Given the description of an element on the screen output the (x, y) to click on. 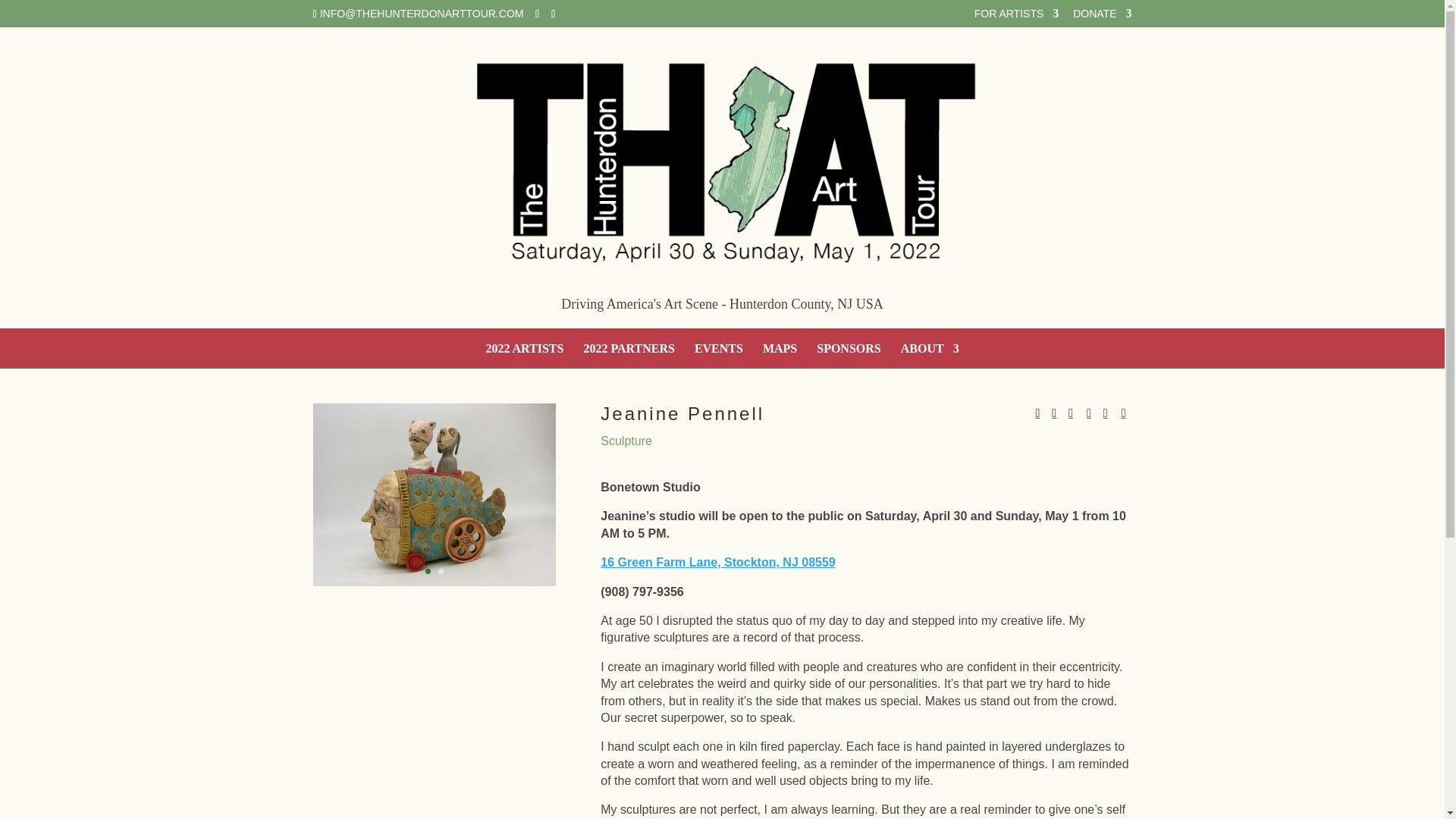
sculpture (433, 585)
FOR ARTISTS (1016, 16)
2022 ARTISTS (523, 355)
2022 PARTNERS (628, 355)
ABOUT (930, 355)
DONATE (1102, 16)
EVENTS (718, 355)
MAPS (779, 355)
SPONSORS (848, 355)
